Given the description of an element on the screen output the (x, y) to click on. 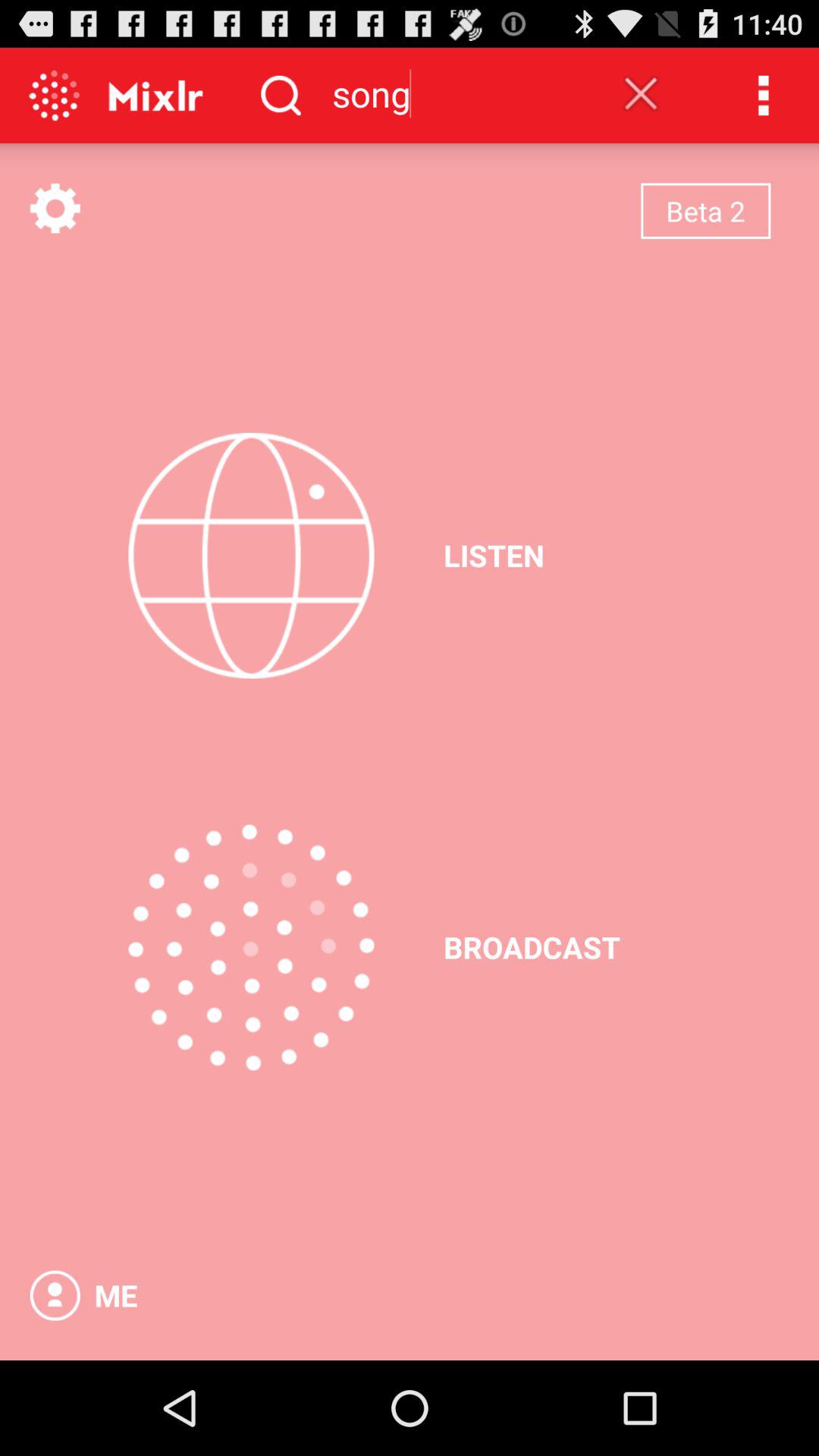
go to my profile (55, 1295)
